Given the description of an element on the screen output the (x, y) to click on. 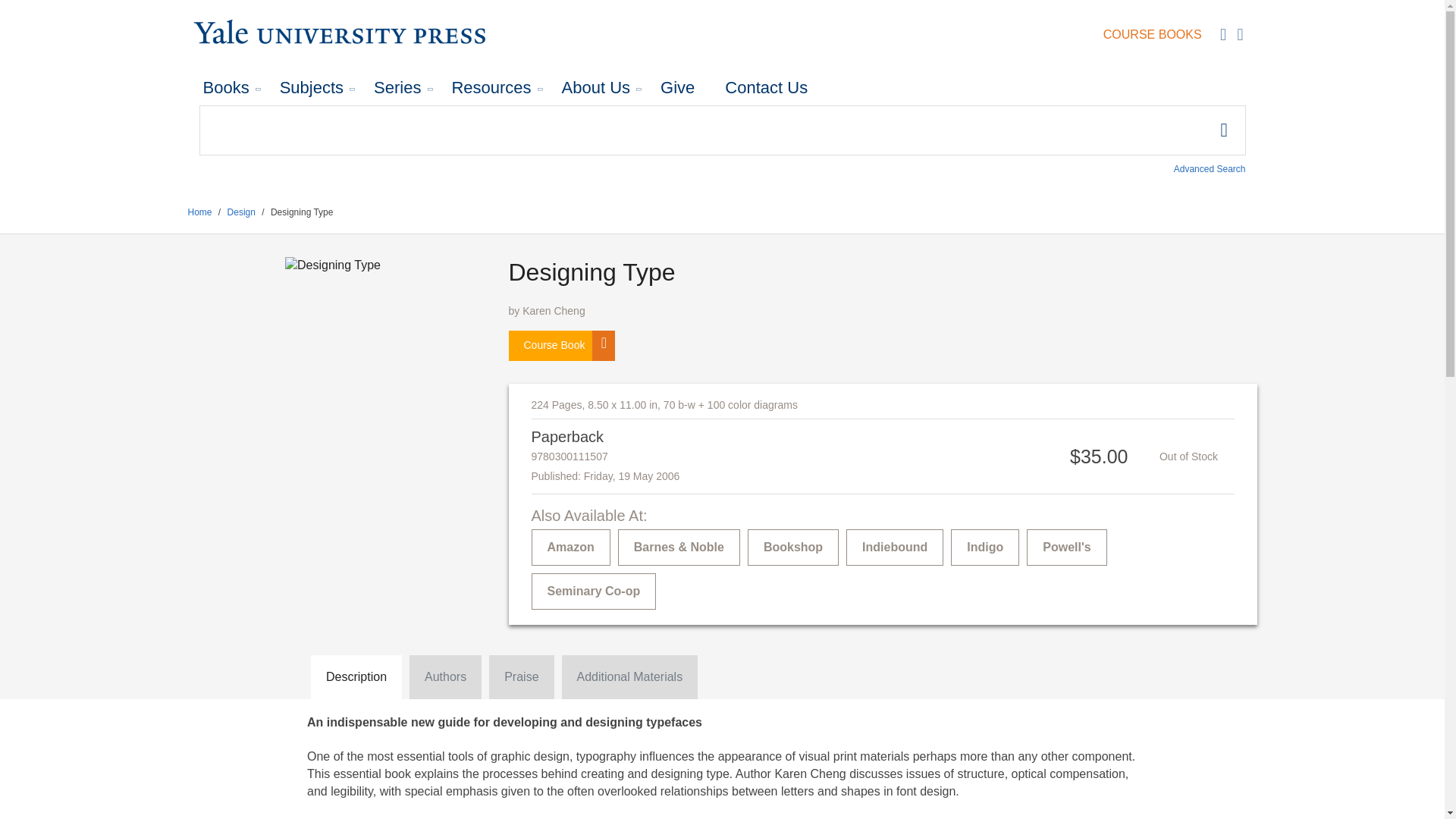
Back to homepage (199, 212)
: (721, 130)
Subjects (311, 87)
Seminary Co-op (593, 591)
Indiebound (894, 547)
View results for design (241, 212)
Powell's (1066, 547)
Bookshop (793, 547)
Course Books Page (1152, 35)
COURSE BOOKS (1152, 35)
Amazon (570, 547)
Books (225, 87)
Series (396, 87)
Indigo (984, 547)
